Given the description of an element on the screen output the (x, y) to click on. 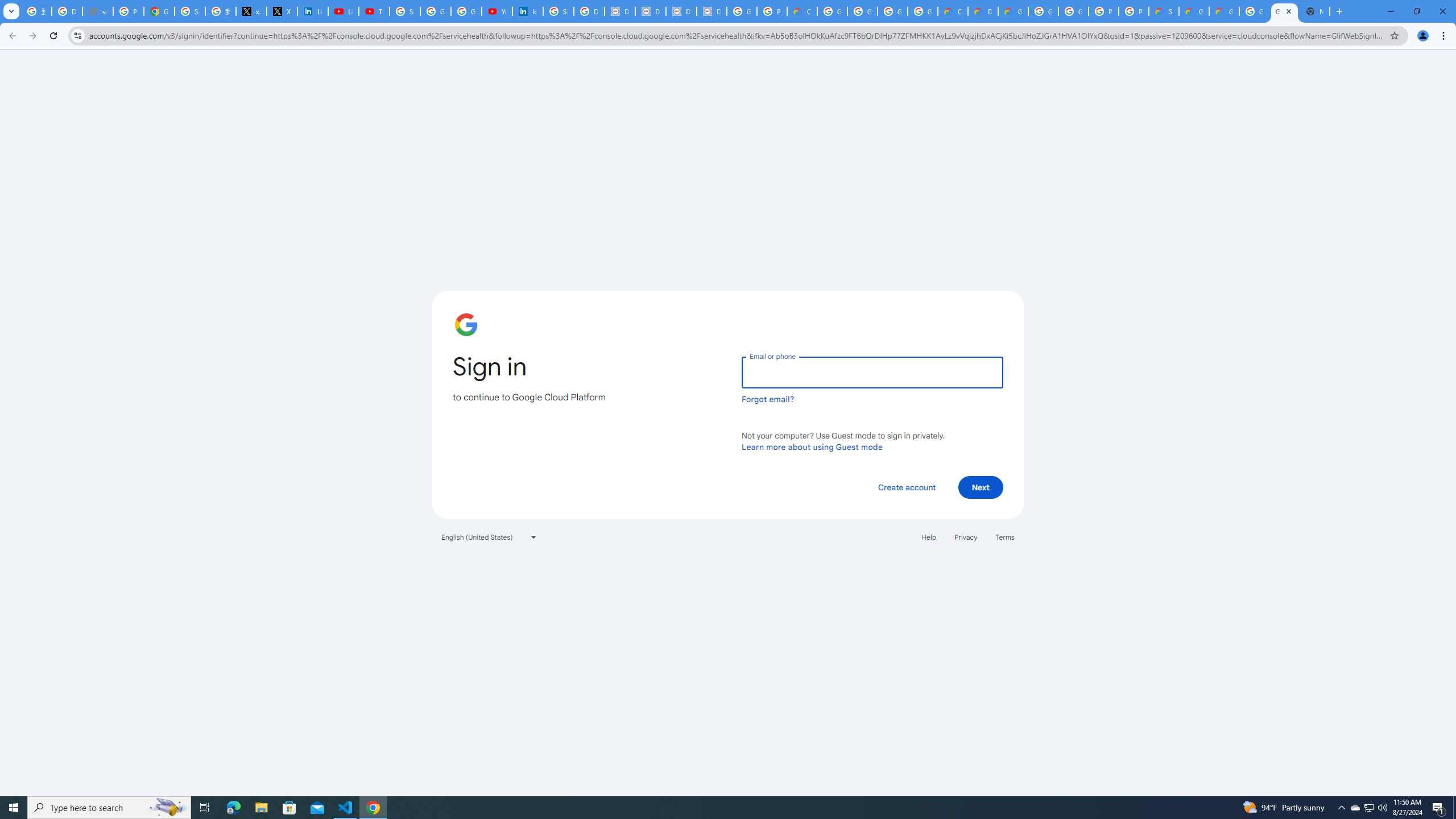
Cloud Data Processing Addendum | Google Cloud (801, 11)
Email or phone (871, 372)
Create account (905, 486)
Google Workspace - Specific Terms (892, 11)
Learn more about using Guest mode (812, 446)
Next (980, 486)
Google Cloud Platform (1254, 11)
